Given the description of an element on the screen output the (x, y) to click on. 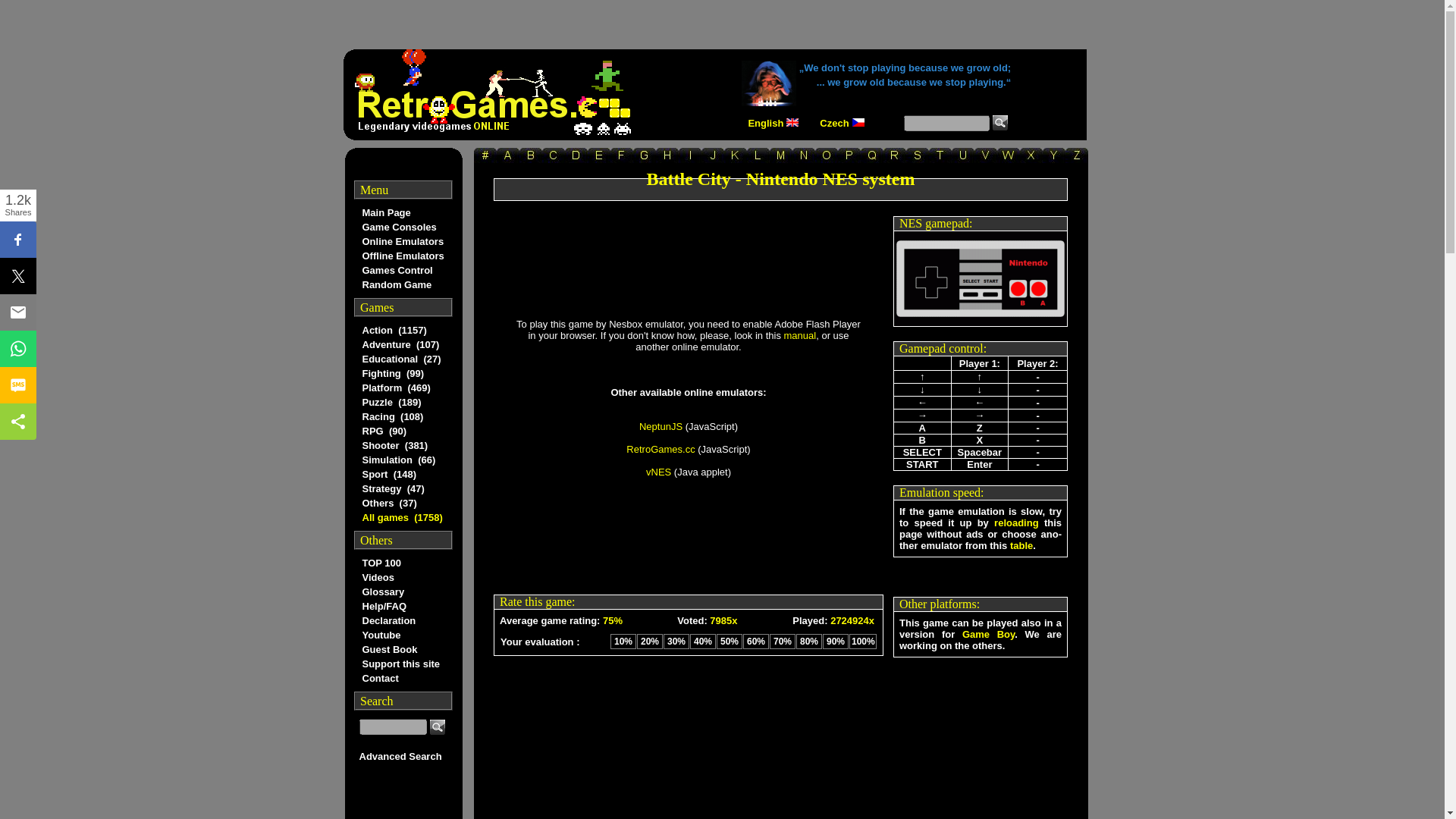
Online Emulators (402, 241)
Games Control (402, 269)
Offline Emulators (402, 255)
Game Consoles (402, 227)
English (765, 121)
Advertisement (781, 788)
Random Game (402, 284)
Czech (833, 121)
Main Page (402, 212)
